Given the description of an element on the screen output the (x, y) to click on. 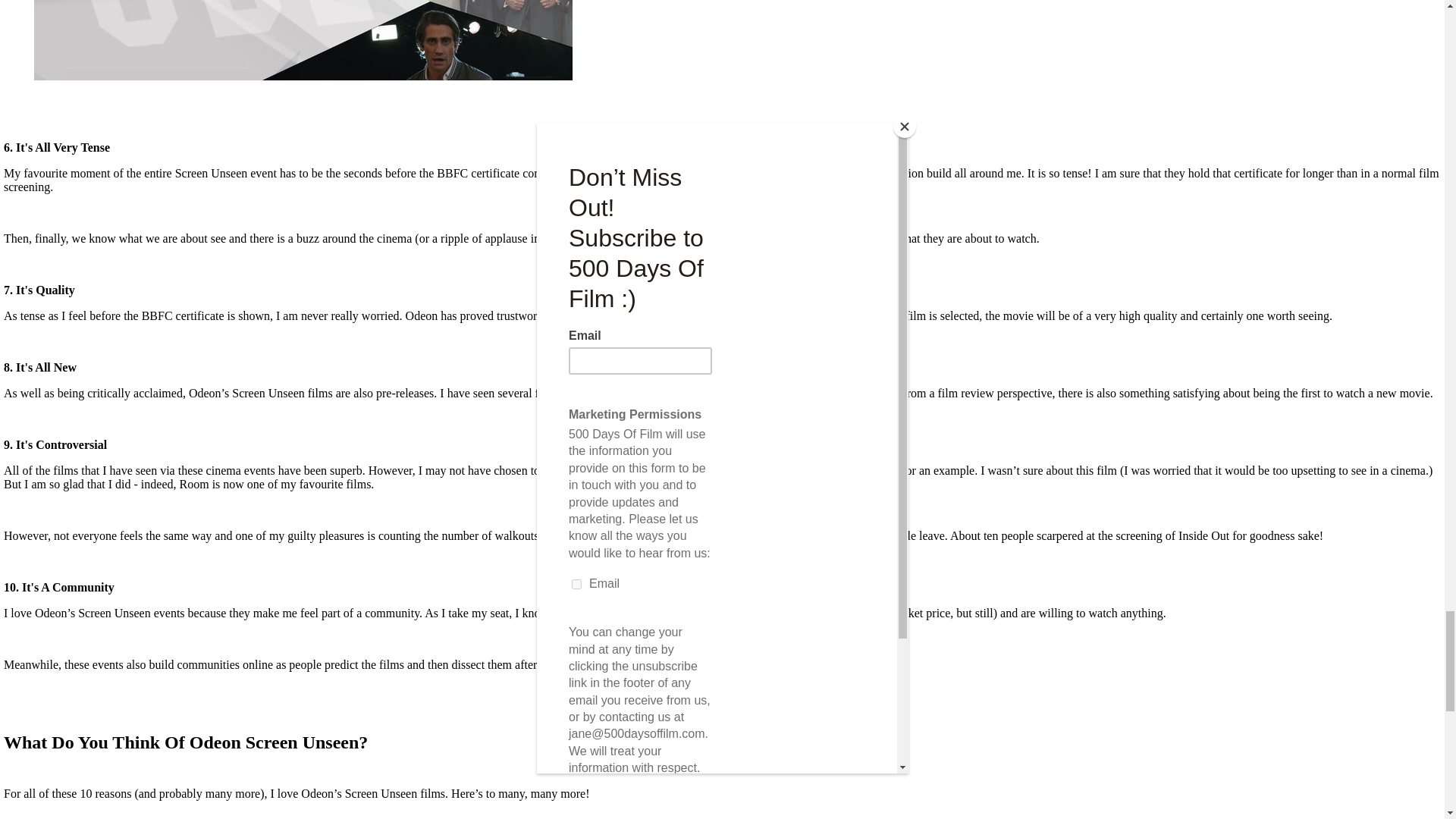
The Revenant (630, 237)
